Given the description of an element on the screen output the (x, y) to click on. 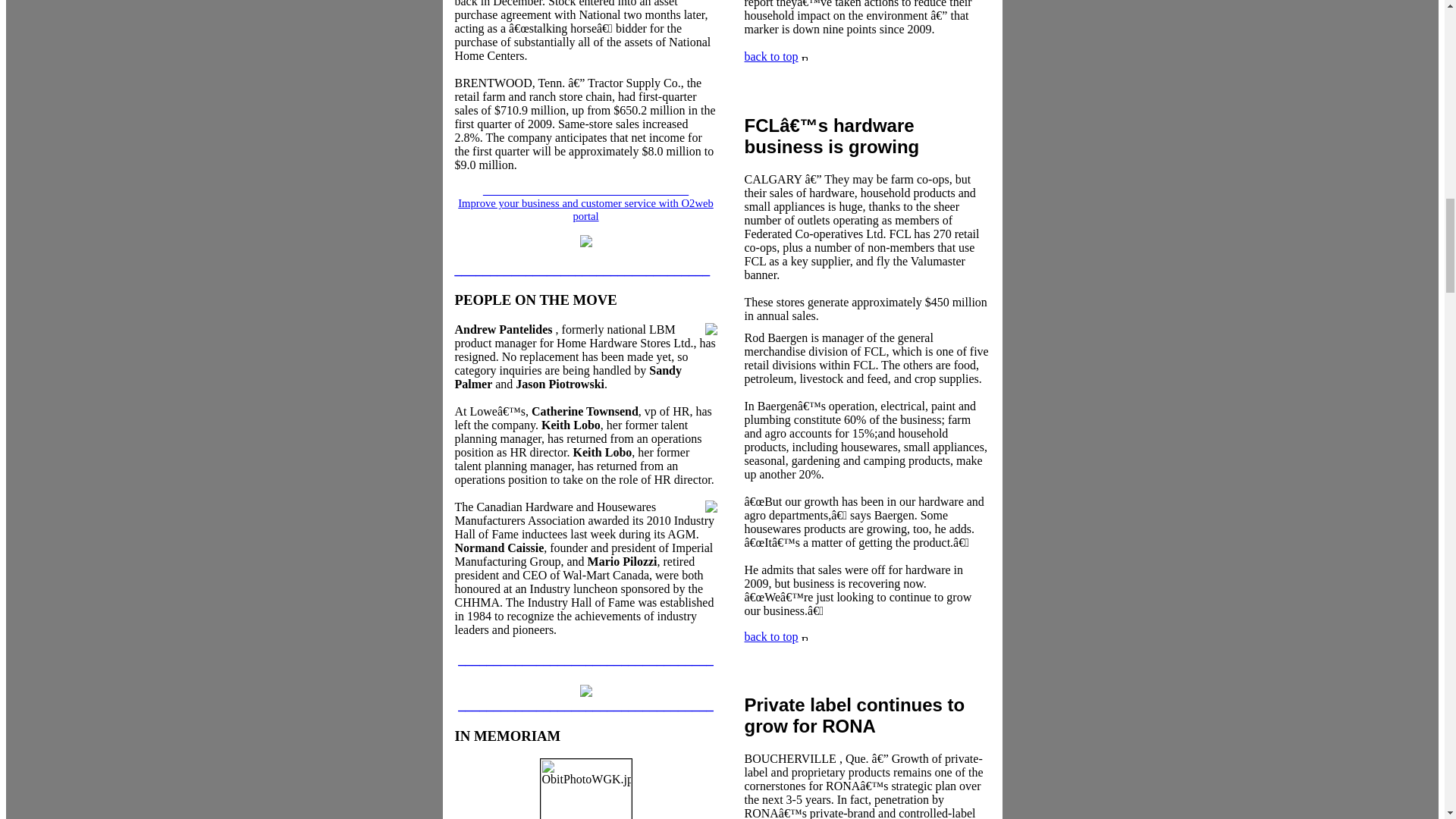
back to top (839, 69)
back to top (770, 635)
Improve your business and customer service with O2web portal (585, 209)
